Given the description of an element on the screen output the (x, y) to click on. 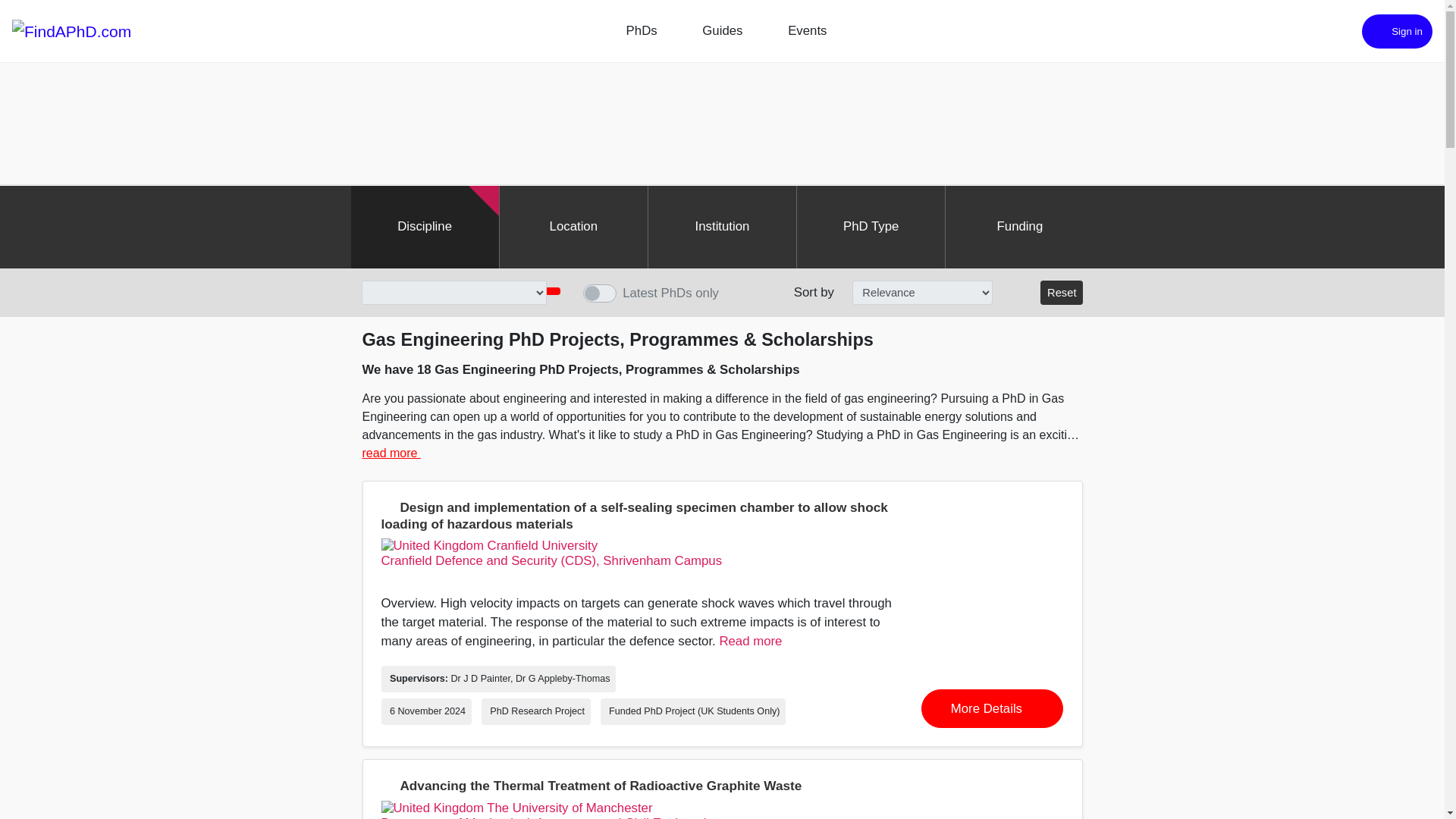
United Kingdom (431, 807)
United Kingdom (431, 545)
Clear all search filters (1062, 292)
PhD Opportunities at The University of Manchester (516, 808)
FindAPhD.com (71, 30)
PhD Opportunities at Cranfield University (488, 546)
